Given the description of an element on the screen output the (x, y) to click on. 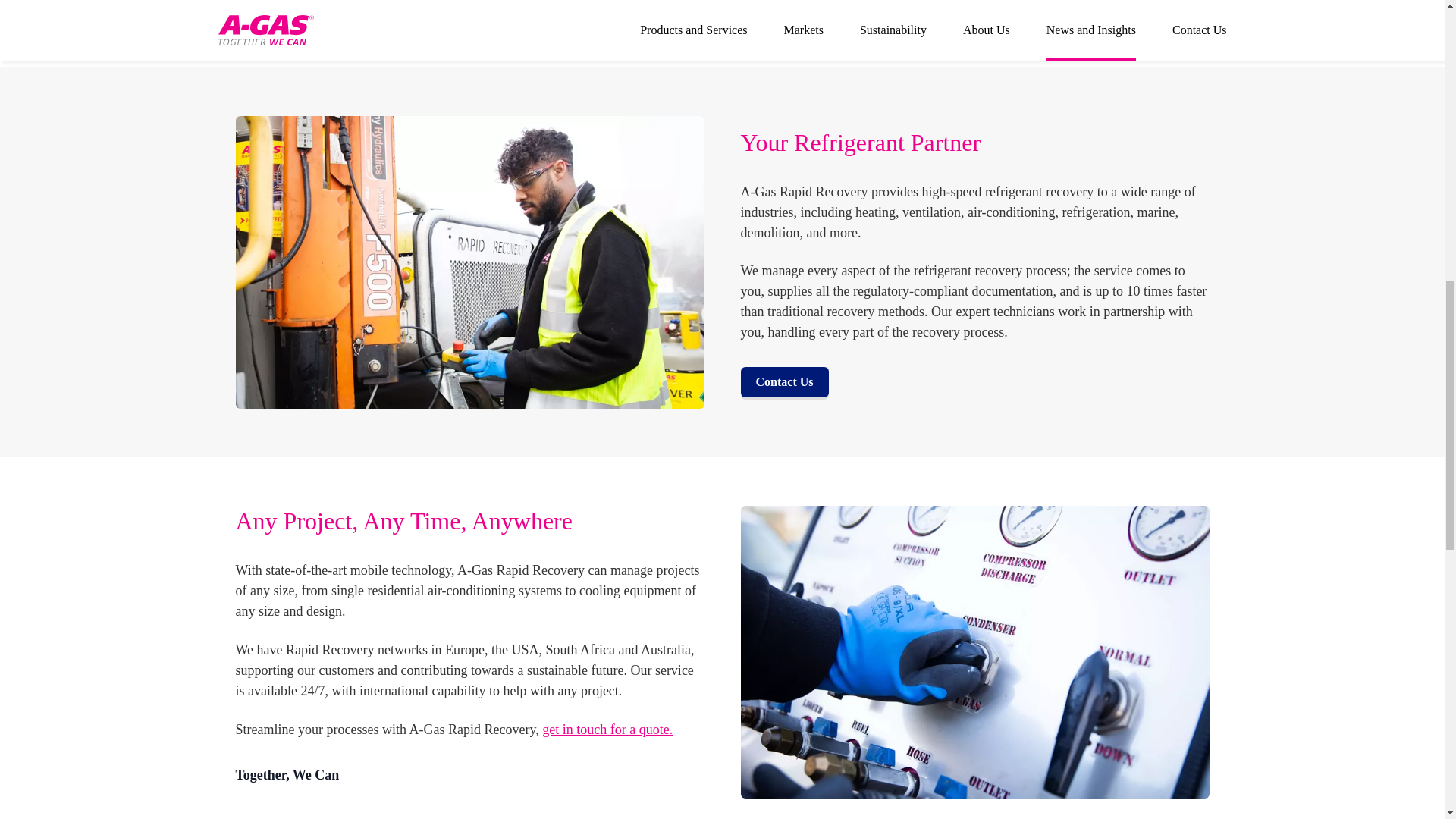
On-Site Recovery Services (606, 729)
